Given the description of an element on the screen output the (x, y) to click on. 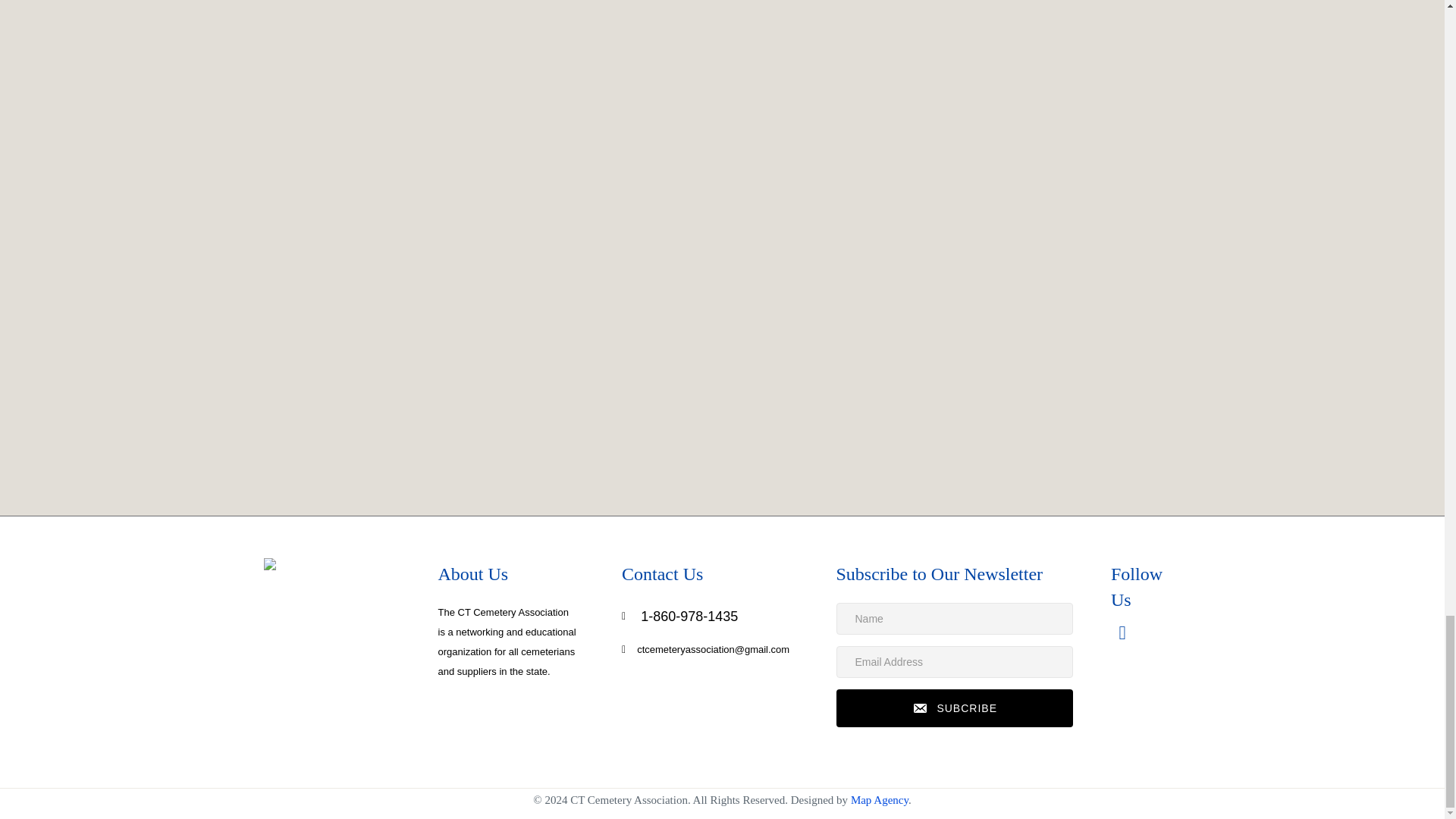
Facebook (1122, 631)
SUBCRIBE (954, 708)
1-860-978-1435 (689, 615)
